Given the description of an element on the screen output the (x, y) to click on. 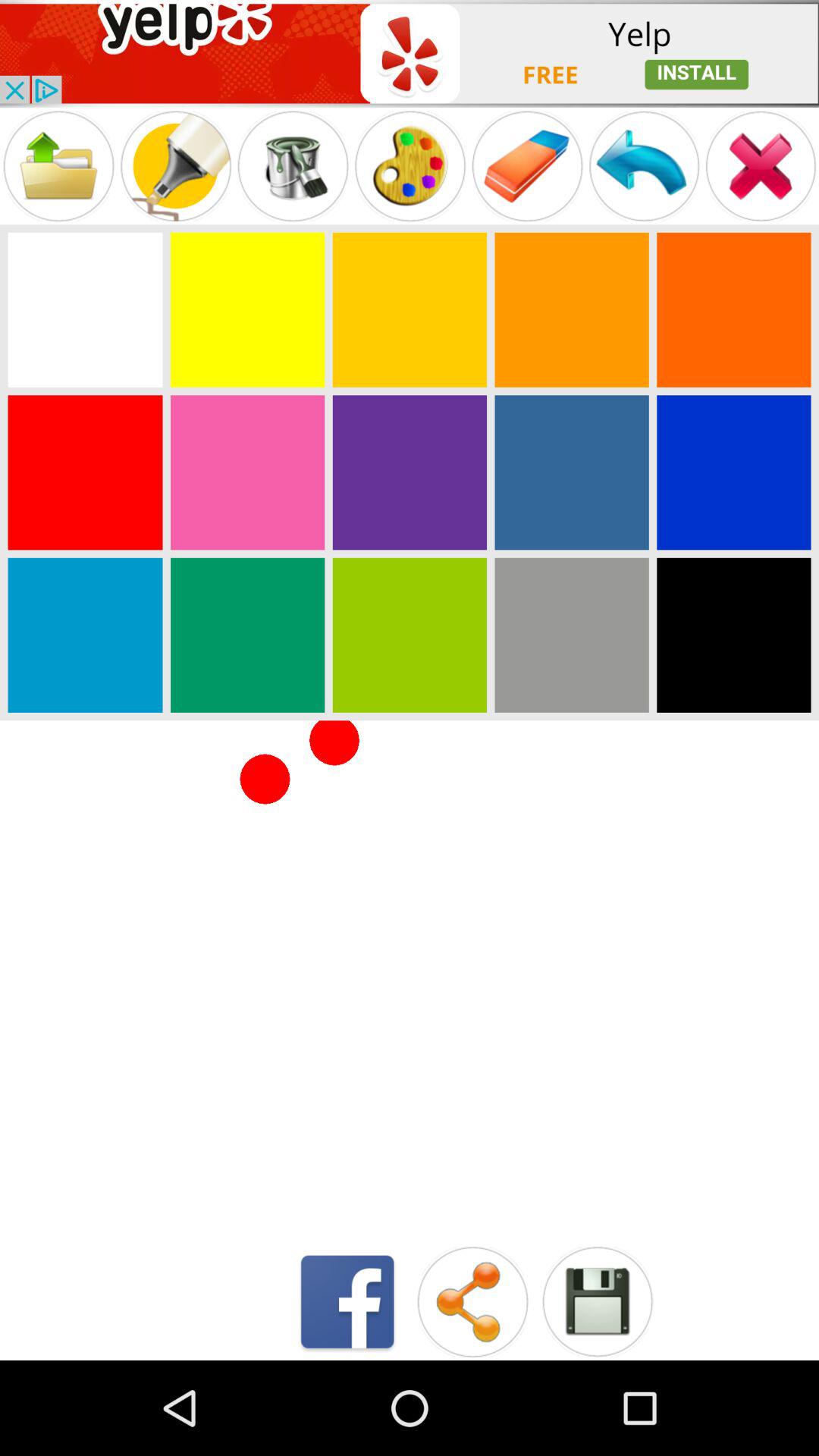
pick this color (733, 309)
